Given the description of an element on the screen output the (x, y) to click on. 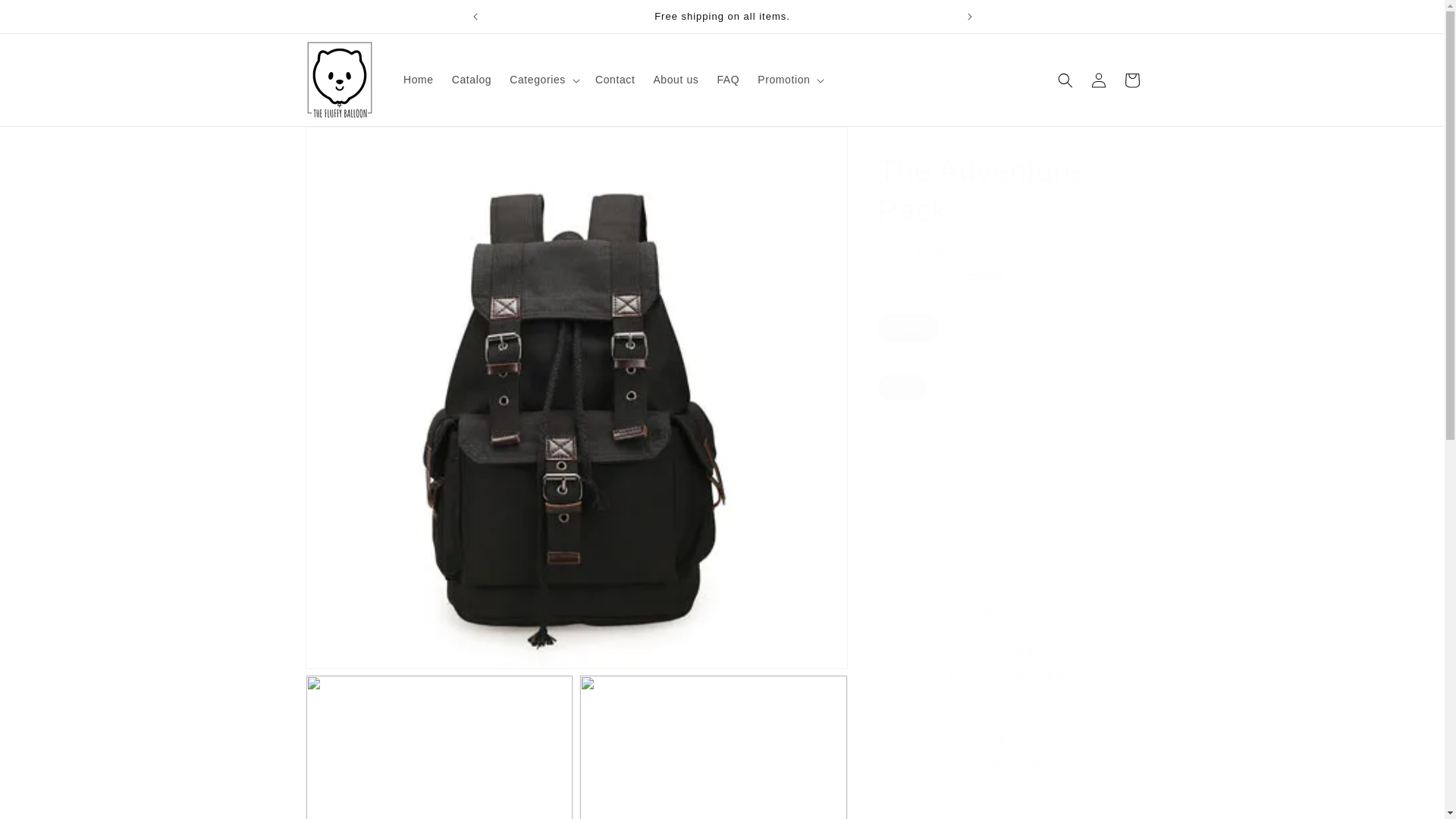
Skip to content (45, 17)
Open media 5 in modal (713, 746)
1 (931, 451)
Open media 2 in modal (438, 746)
